Given the description of an element on the screen output the (x, y) to click on. 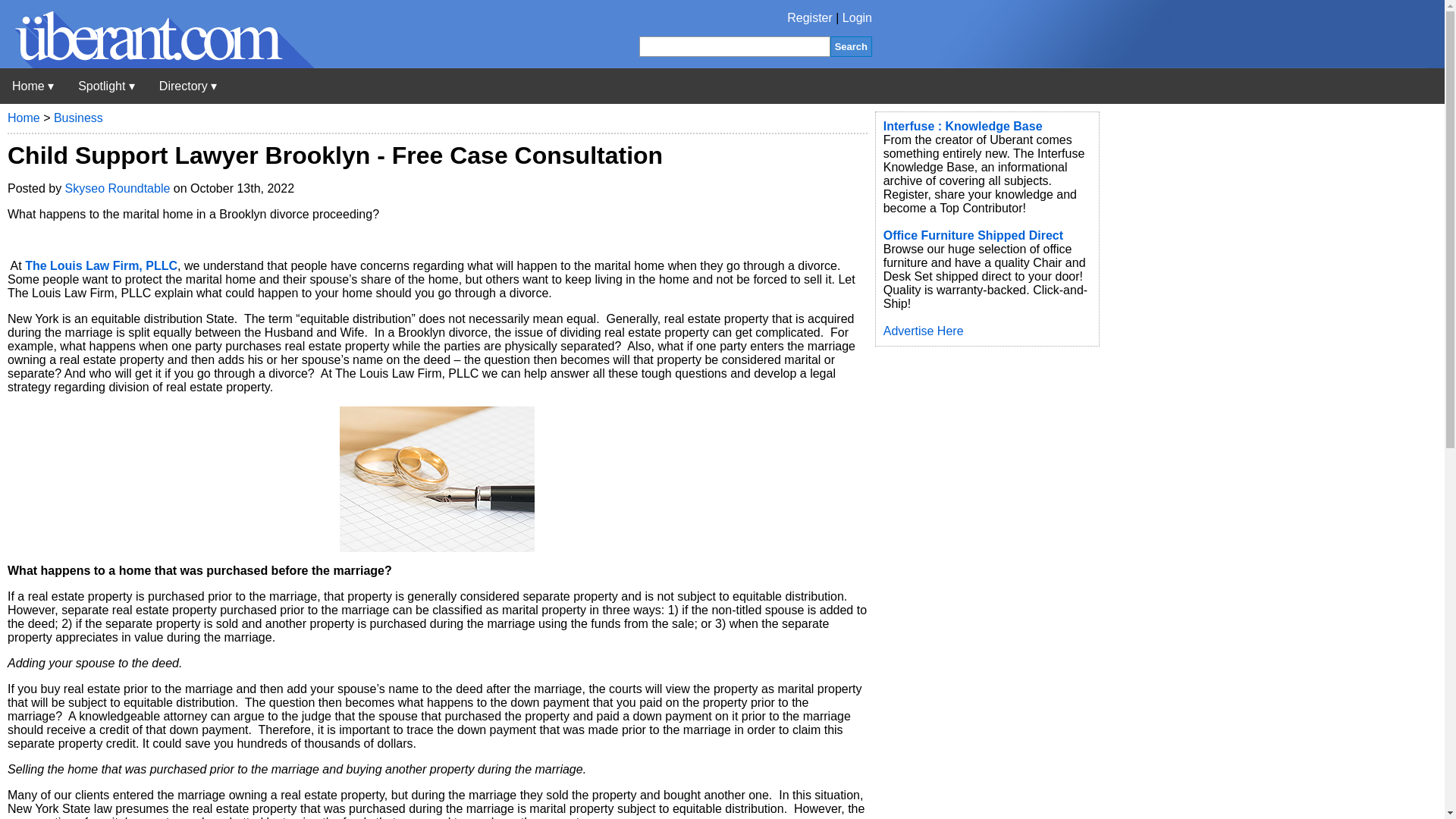
Search (850, 46)
Register (809, 17)
Login (857, 17)
Uberant (32, 85)
Uberant (157, 63)
Search (850, 46)
